Given the description of an element on the screen output the (x, y) to click on. 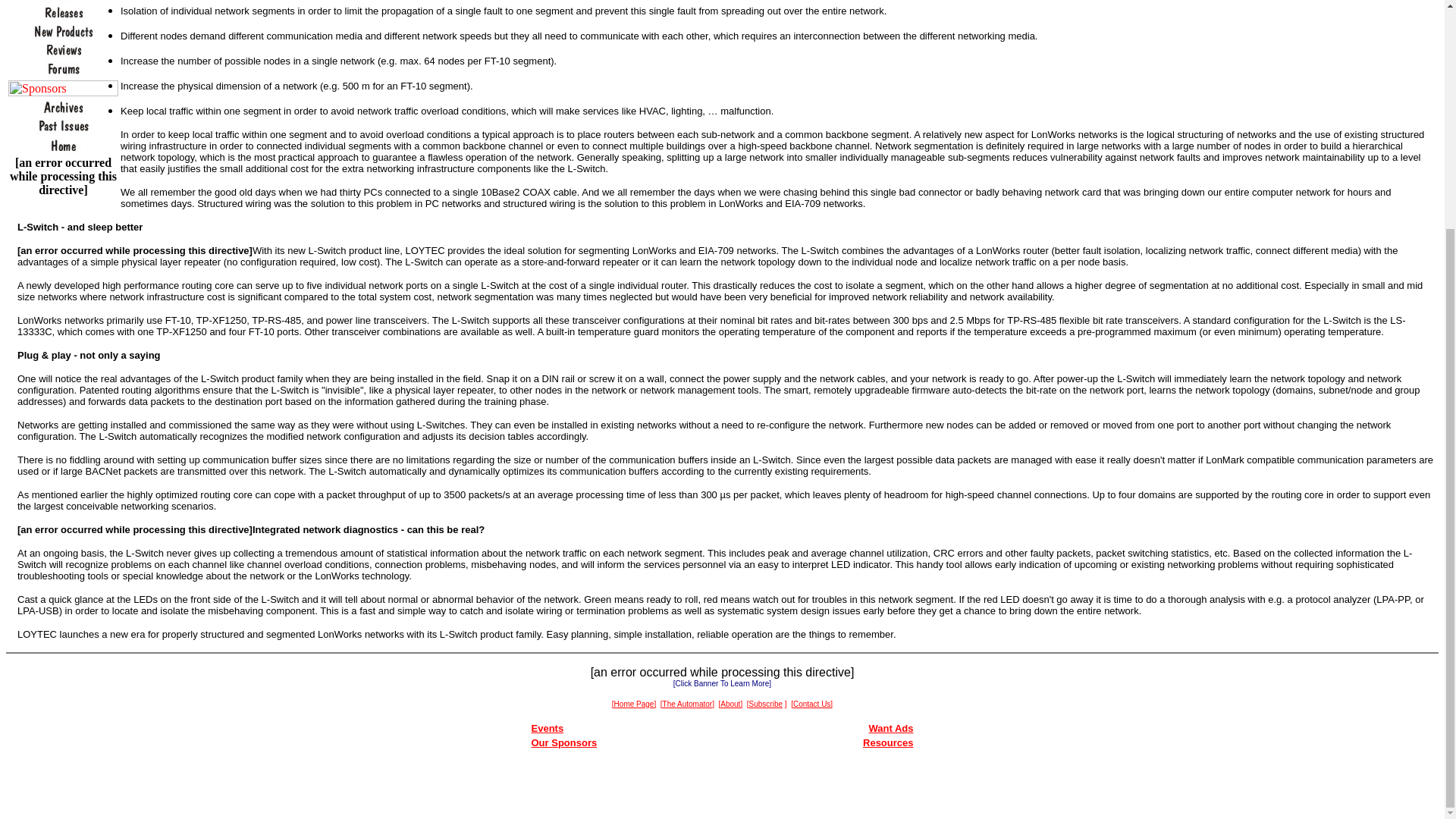
Advertisement (721, 790)
Want Ads (891, 727)
Subscribe (766, 702)
Resources (887, 742)
Our Sponsors (563, 742)
Events (547, 727)
